Given the description of an element on the screen output the (x, y) to click on. 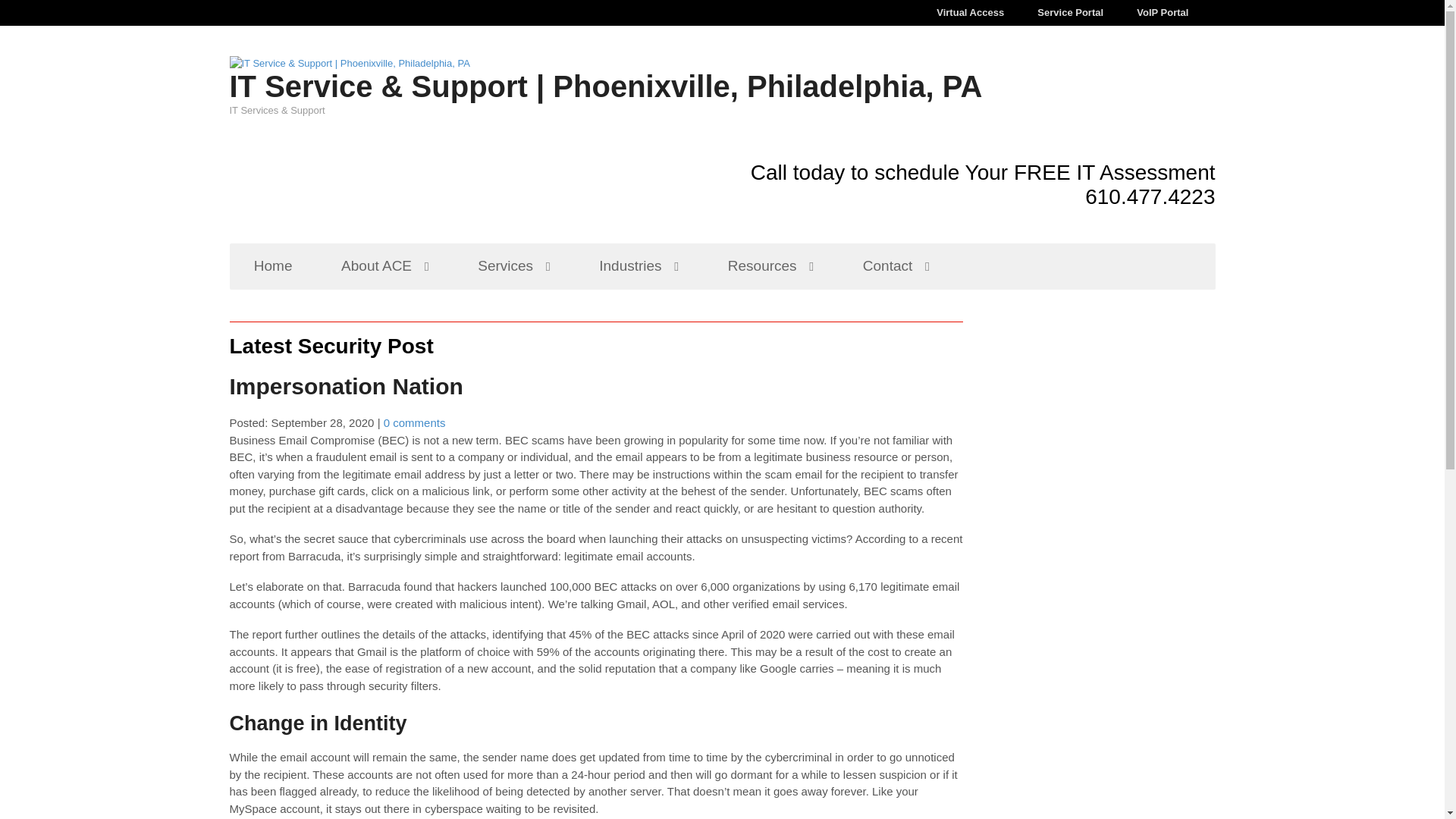
Resources (711, 160)
Services (487, 160)
Industries (596, 160)
Virtual Access (879, 18)
Contact (818, 160)
Home (271, 160)
610.477.4223 (1149, 124)
VoIP Portal (1145, 18)
Service Portal (1017, 18)
About ACE (376, 160)
